Given the description of an element on the screen output the (x, y) to click on. 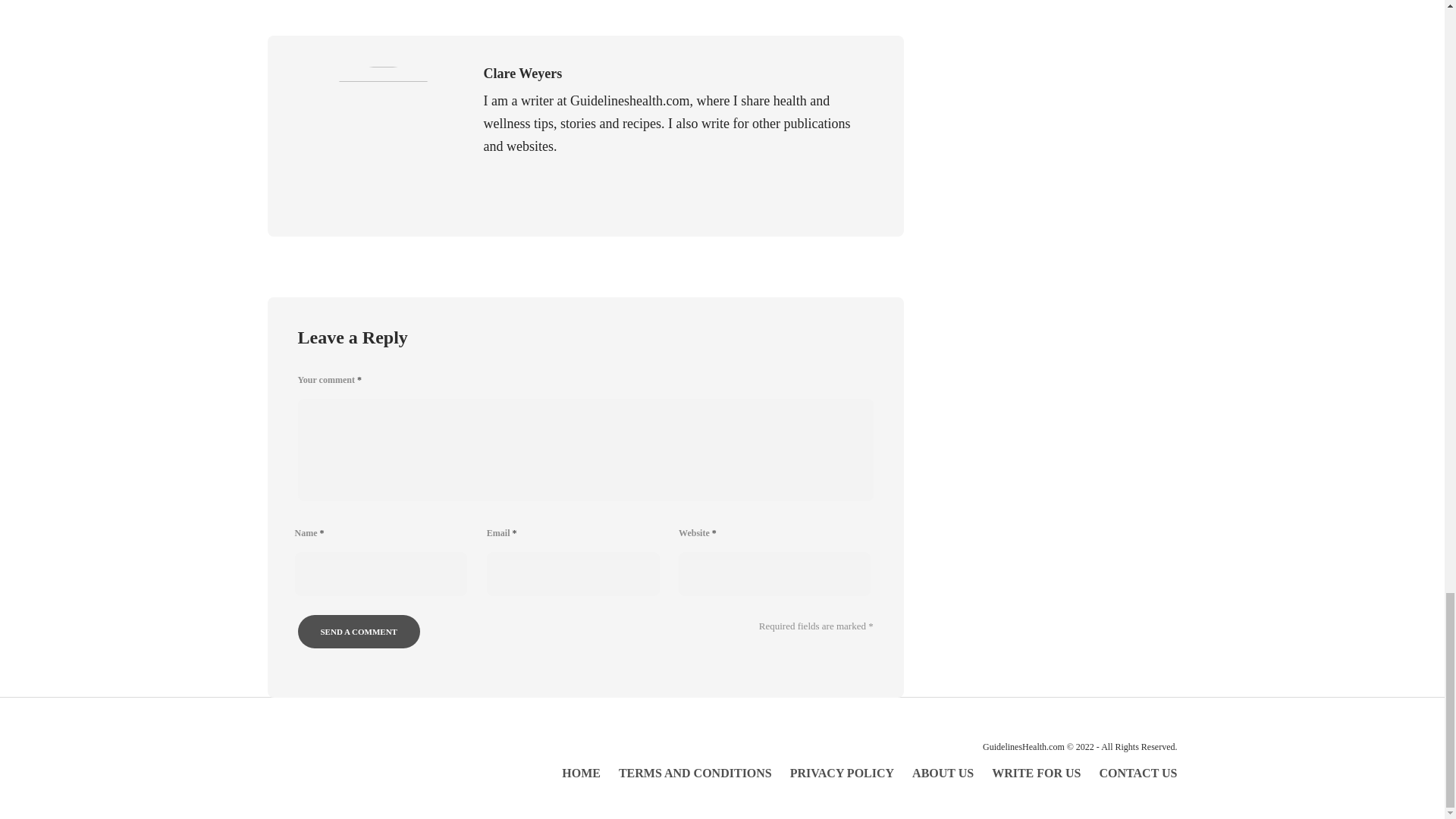
Send a comment (358, 631)
